Given the description of an element on the screen output the (x, y) to click on. 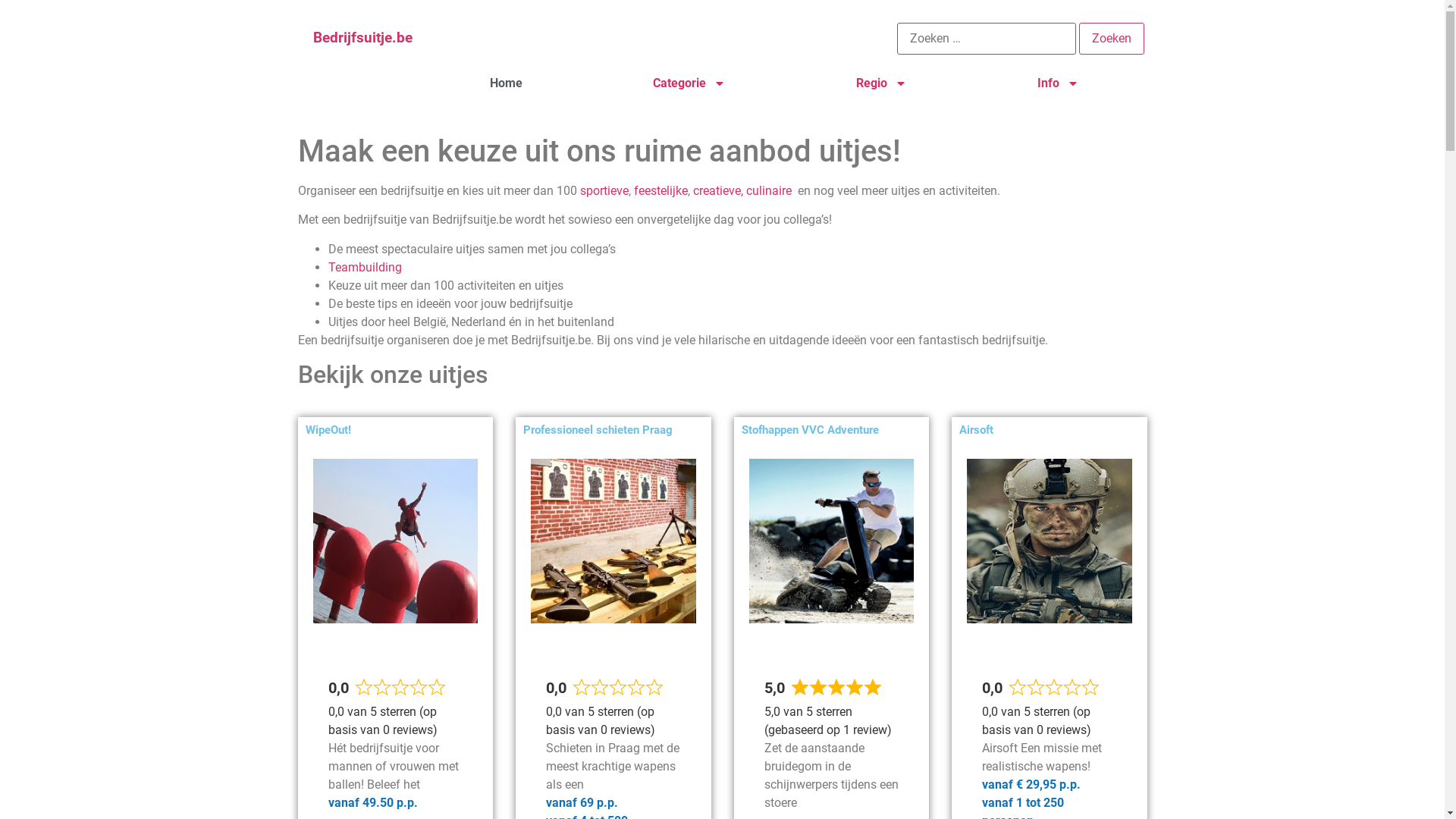
Professioneel schieten Praag Element type: text (597, 429)
Info Element type: text (1058, 83)
Teambuilding Element type: text (364, 267)
Categorie Element type: text (688, 83)
Regio Element type: text (881, 83)
Stofhappen VVC Adventure Element type: text (809, 429)
culinaire Element type: text (768, 190)
feestelijke Element type: text (660, 190)
Zoeken Element type: text (1111, 38)
WipeOut! Element type: text (327, 429)
Home Element type: text (505, 83)
sportieve Element type: text (603, 190)
creatieve, Element type: text (719, 190)
Airsoft Element type: text (976, 429)
